Given the description of an element on the screen output the (x, y) to click on. 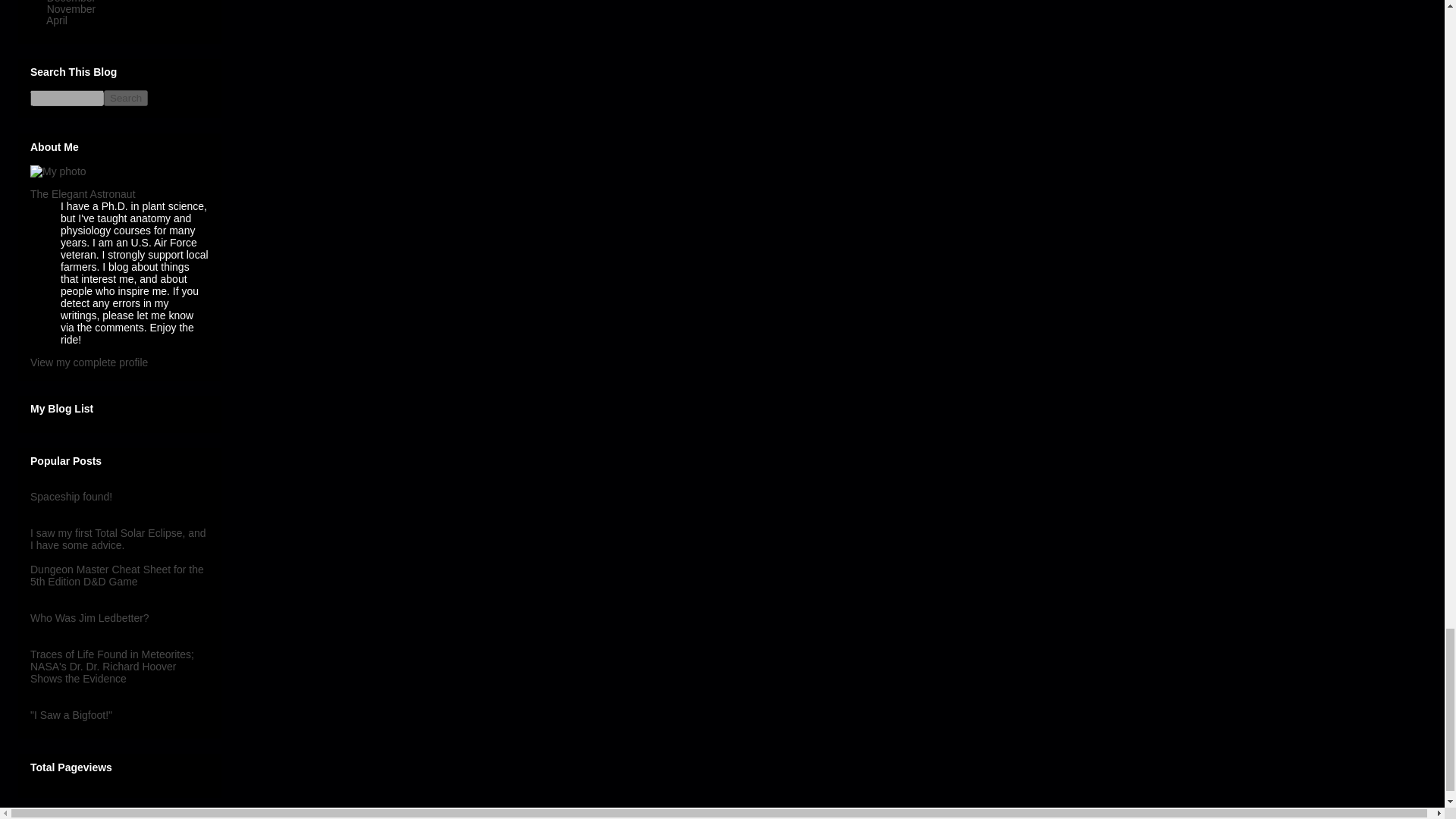
search (125, 98)
Search (125, 98)
Search (125, 98)
search (66, 98)
